Given the description of an element on the screen output the (x, y) to click on. 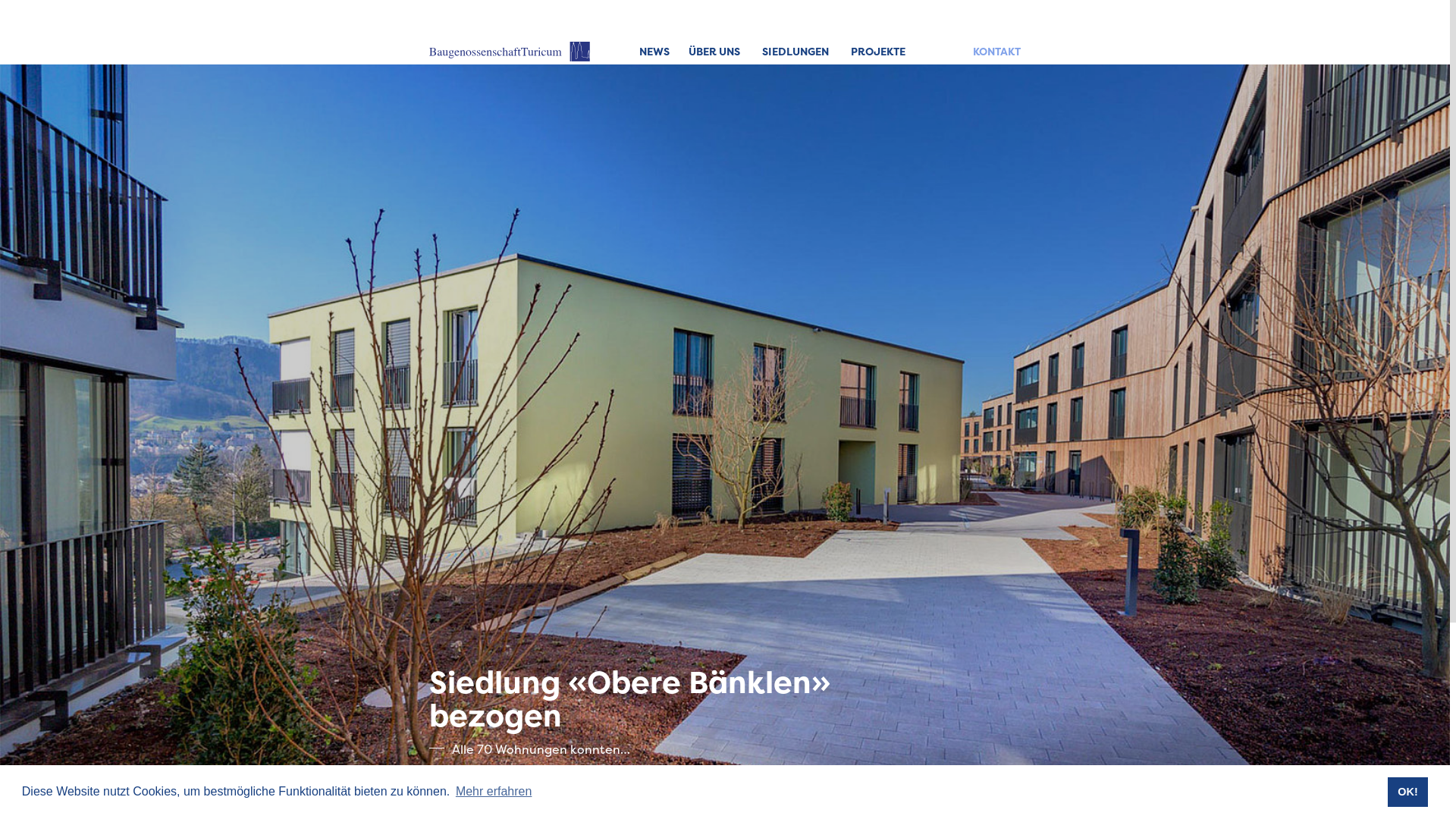
SIEDLUNGEN Element type: text (795, 51)
OK! Element type: text (1407, 791)
NEWS Element type: text (654, 51)
Mehr erfahren Element type: text (493, 791)
KONTAKT Element type: text (996, 51)
Home - BG Turicum Element type: hover (509, 51)
PROJEKTE Element type: text (877, 51)
